Given the description of an element on the screen output the (x, y) to click on. 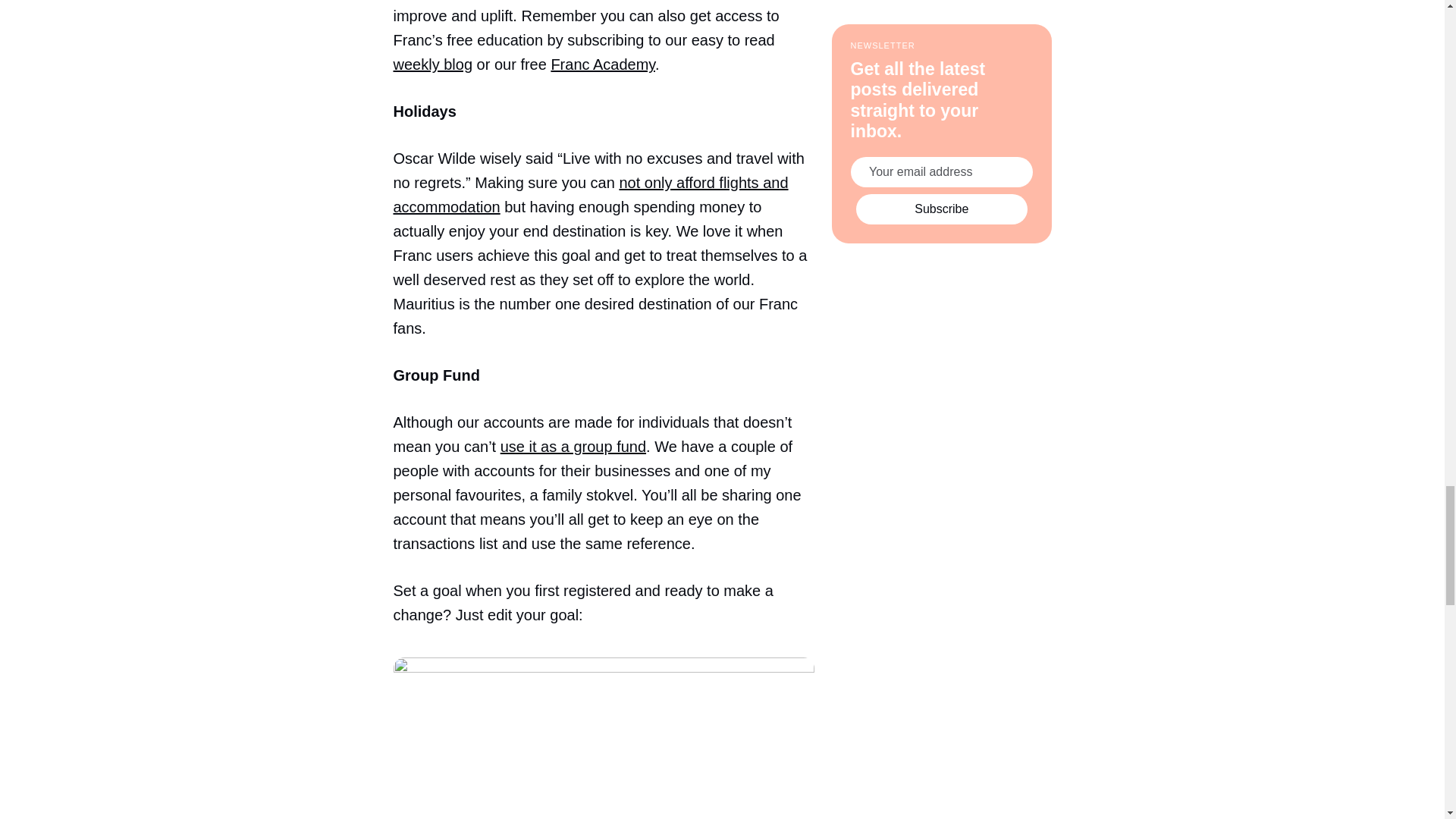
Franc Academy (601, 64)
not only afford flights and accommodation (590, 194)
use it as a group fund (573, 446)
weekly blog (432, 64)
